Given the description of an element on the screen output the (x, y) to click on. 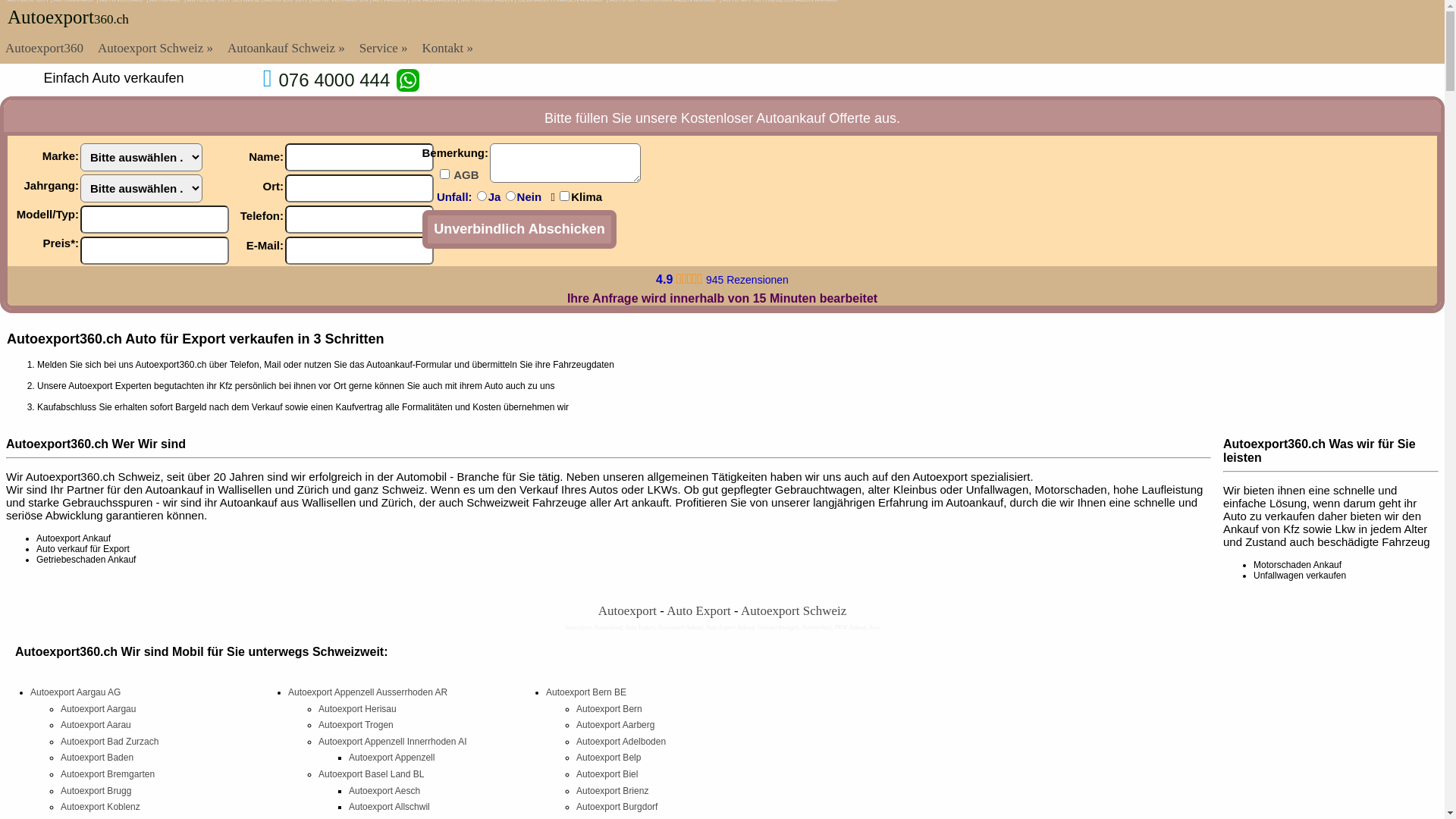
Autoankauf Element type: text (790, 117)
Autoexport Brienz Element type: text (612, 790)
Auto Export Element type: text (698, 610)
Autoexport Belp Element type: text (608, 757)
Service Element type: text (383, 48)
Autoexport Trogen Element type: text (355, 724)
Autoexport Aargau AG Element type: text (75, 692)
Autoexport Bern BE Element type: text (586, 692)
Autoexport Baden Element type: text (96, 757)
Autoexport Biel Element type: text (606, 773)
Autoexport Aarberg Element type: text (615, 724)
Autoexport Appenzell Ausserrhoden AR Element type: text (367, 692)
Autoexport Koblenz Element type: text (100, 806)
Autoexport Aargau Element type: text (97, 708)
Autoexport Burgdorf Element type: text (616, 806)
Autoexport360 Element type: text (43, 48)
076 4000 444 Element type: text (333, 79)
Autoexport Element type: text (50, 16)
Autoexport Schweiz Element type: text (155, 48)
Kontakt Element type: text (447, 48)
Autoexport Appenzell Innerrhoden AI Element type: text (392, 741)
Autoexport Aarau Element type: text (95, 724)
Autoexport Aesch Element type: text (384, 790)
Autoexport Schweiz Element type: hover (407, 80)
Autoexport Basel Land BL Element type: text (370, 773)
AGB    Element type: text (469, 174)
Autoankauf Schweiz Element type: text (285, 48)
Autoexport Brugg Element type: text (95, 790)
Autoexport Bern Element type: text (609, 708)
Autoexport Bremgarten Element type: text (107, 773)
Autoexport Bad Zurzach Element type: text (109, 741)
Autoexport Herisau Element type: text (357, 708)
Autoexport Allschwil Element type: text (388, 806)
Unverbindlich Abschicken Element type: text (518, 229)
Autoexport Schweiz Element type: text (793, 610)
Autoexport Element type: text (627, 610)
Autoexport Appenzell Element type: text (391, 757)
Autoexport Adelboden Element type: text (620, 741)
